Given the description of an element on the screen output the (x, y) to click on. 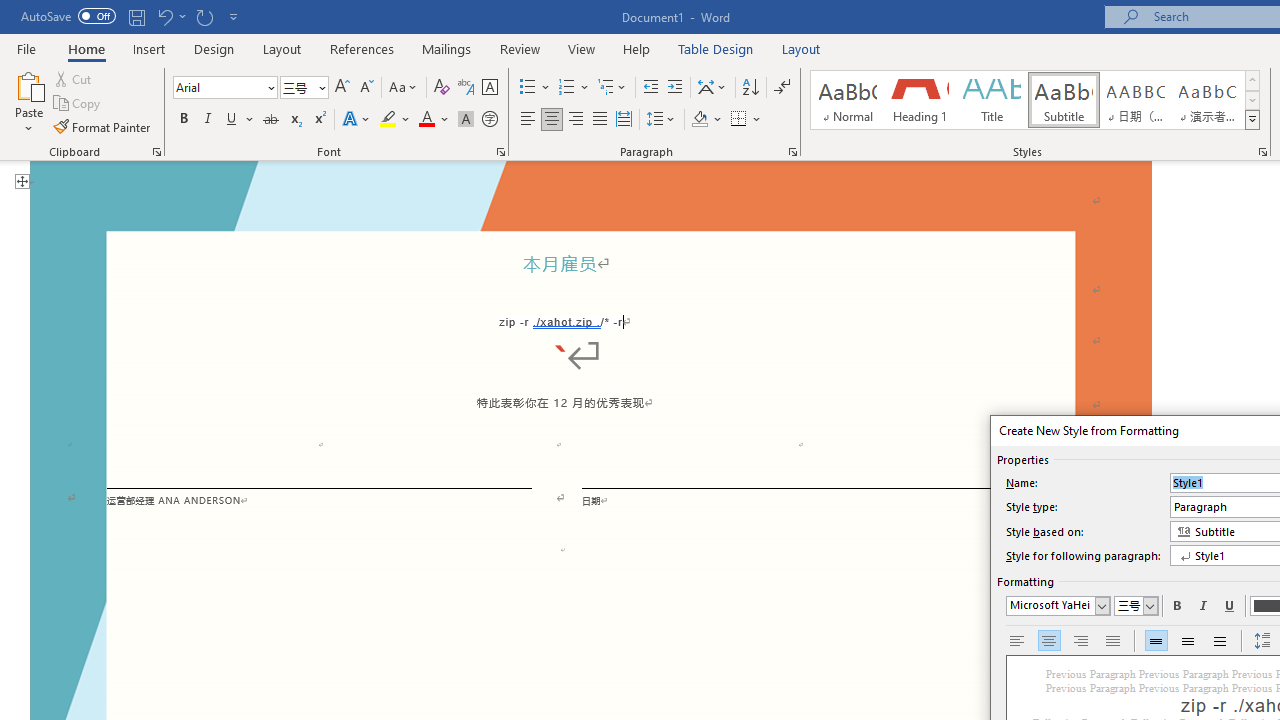
Font Color Red (426, 119)
